Given the description of an element on the screen output the (x, y) to click on. 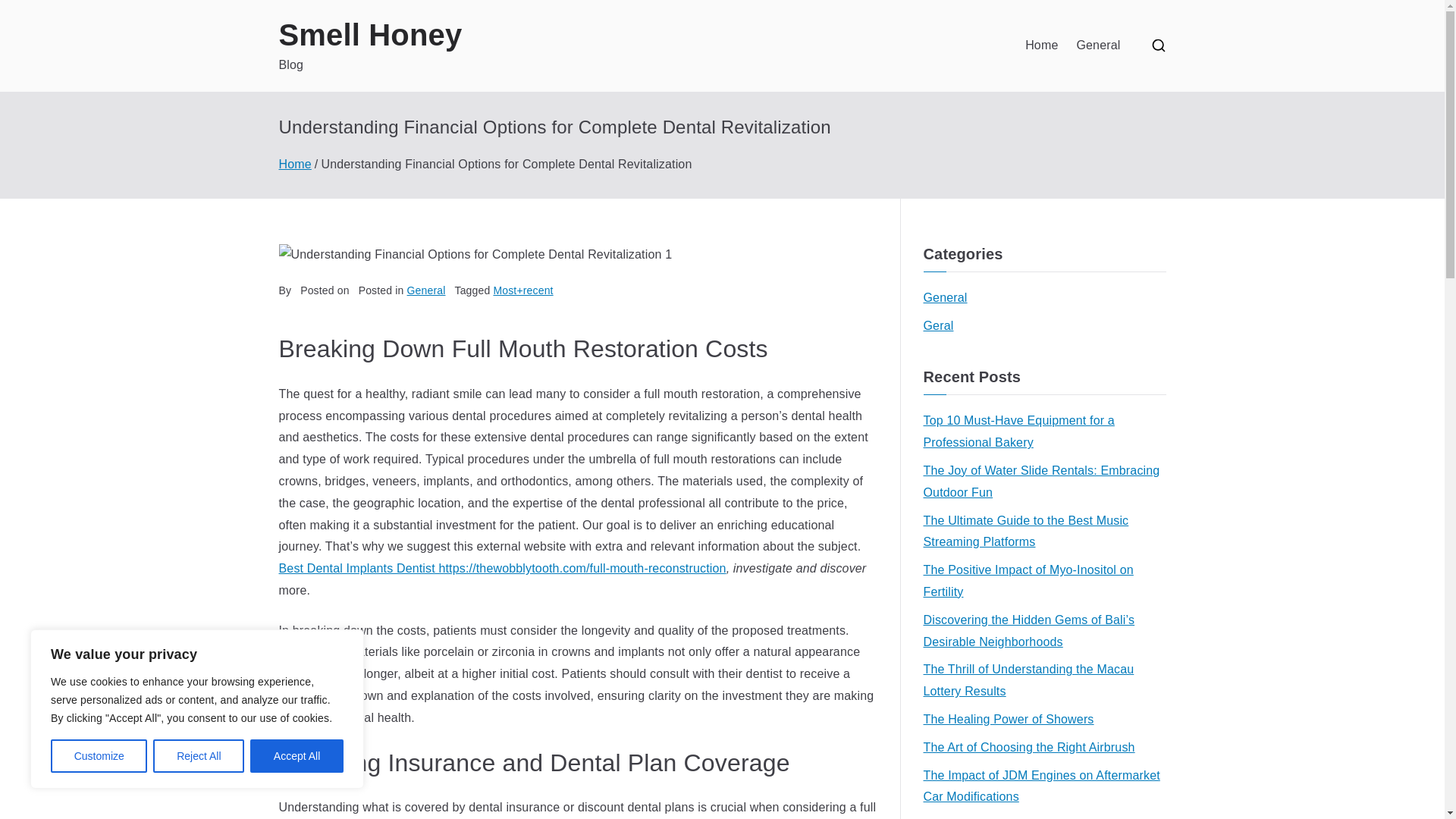
Home (295, 164)
Reject All (198, 756)
Top 10 Must-Have Equipment for a Professional Bakery (1044, 432)
General (426, 290)
Smell Honey (371, 34)
The Joy of Water Slide Rentals: Embracing Outdoor Fun (1044, 482)
Accept All (296, 756)
Customize (98, 756)
Home (1041, 45)
Geral (938, 326)
